Given the description of an element on the screen output the (x, y) to click on. 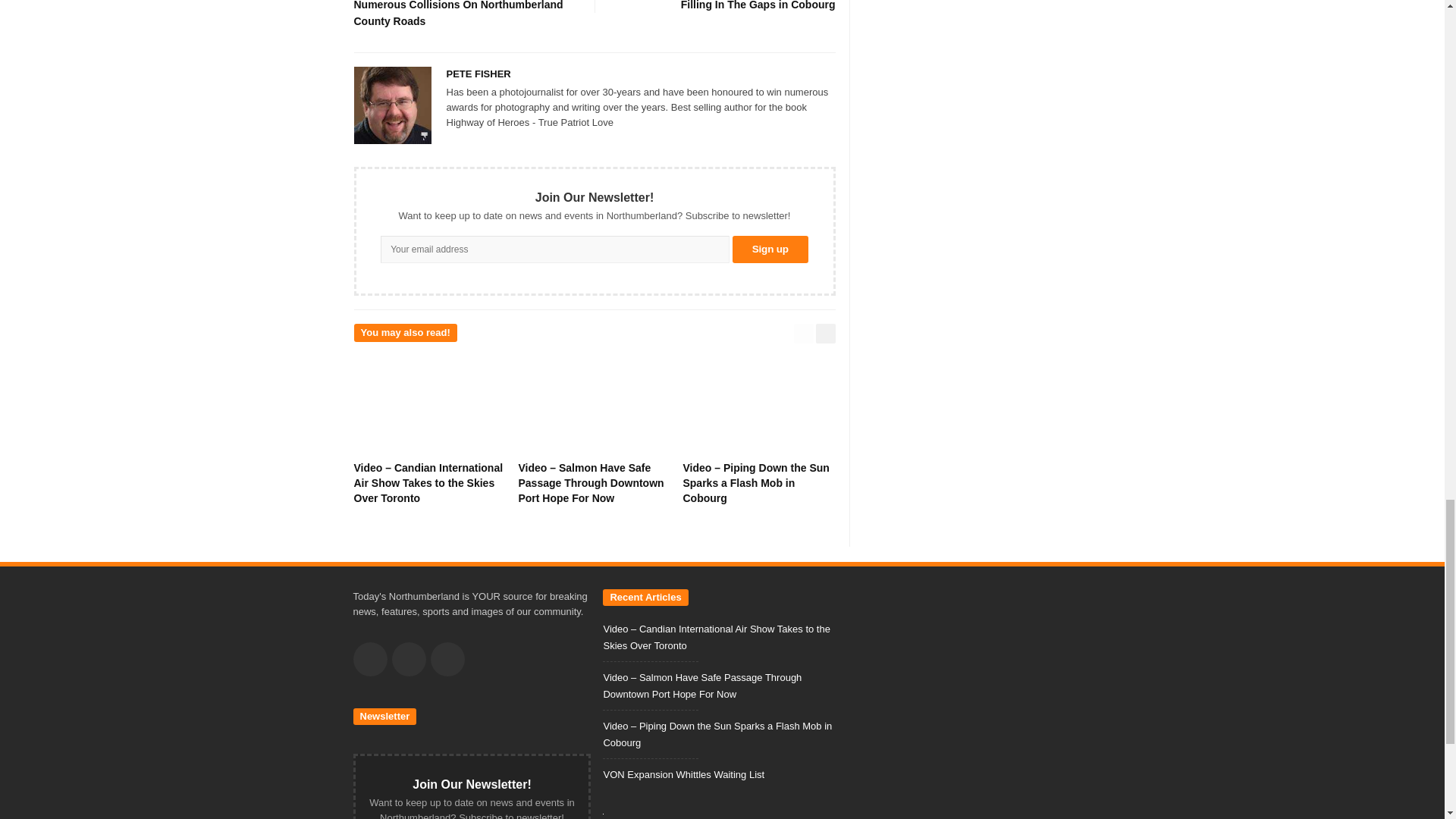
Facebook (370, 659)
Sign up (770, 248)
Twitter (408, 659)
Instagram (447, 659)
